Given the description of an element on the screen output the (x, y) to click on. 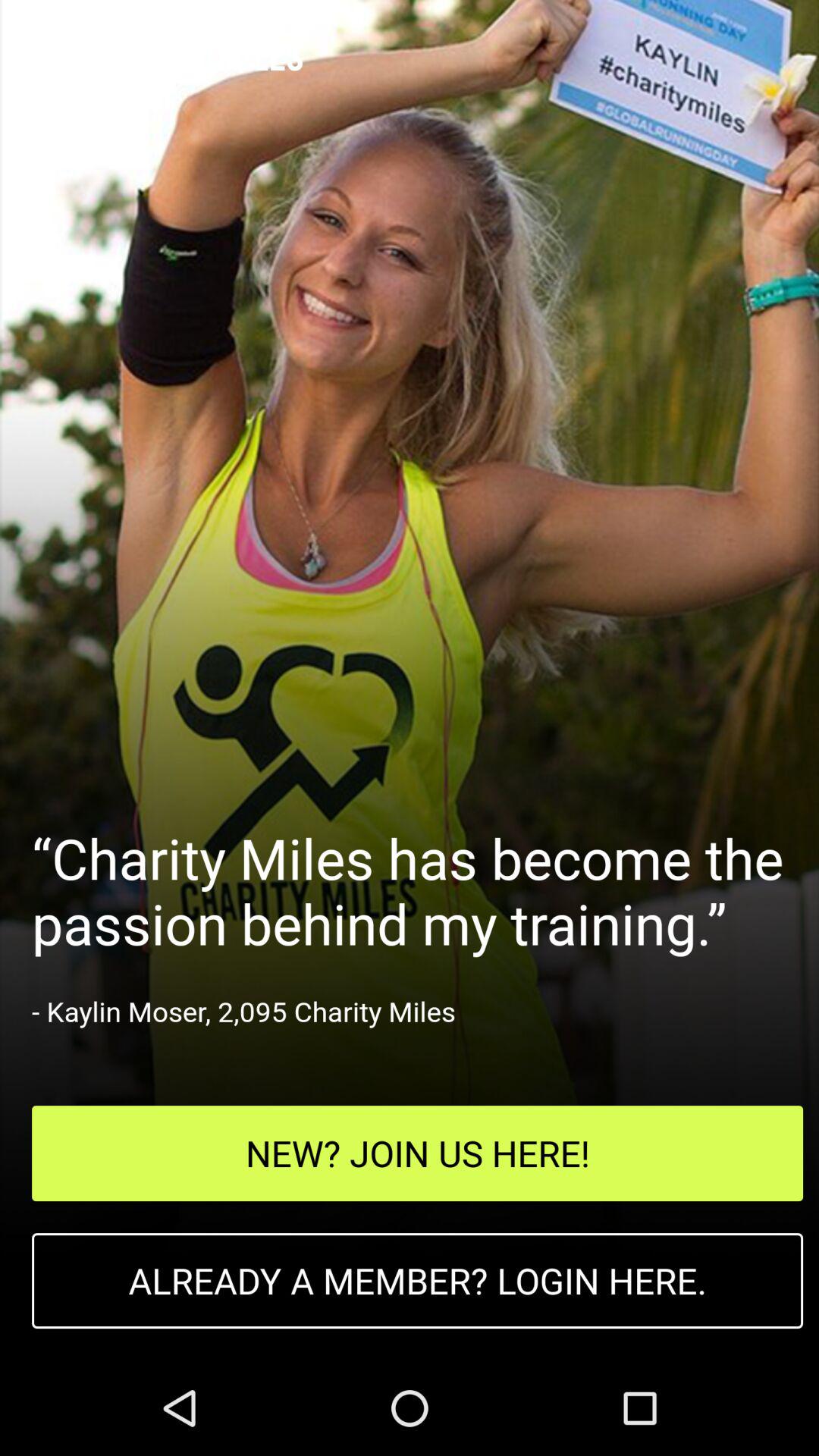
flip to already a member (417, 1280)
